Given the description of an element on the screen output the (x, y) to click on. 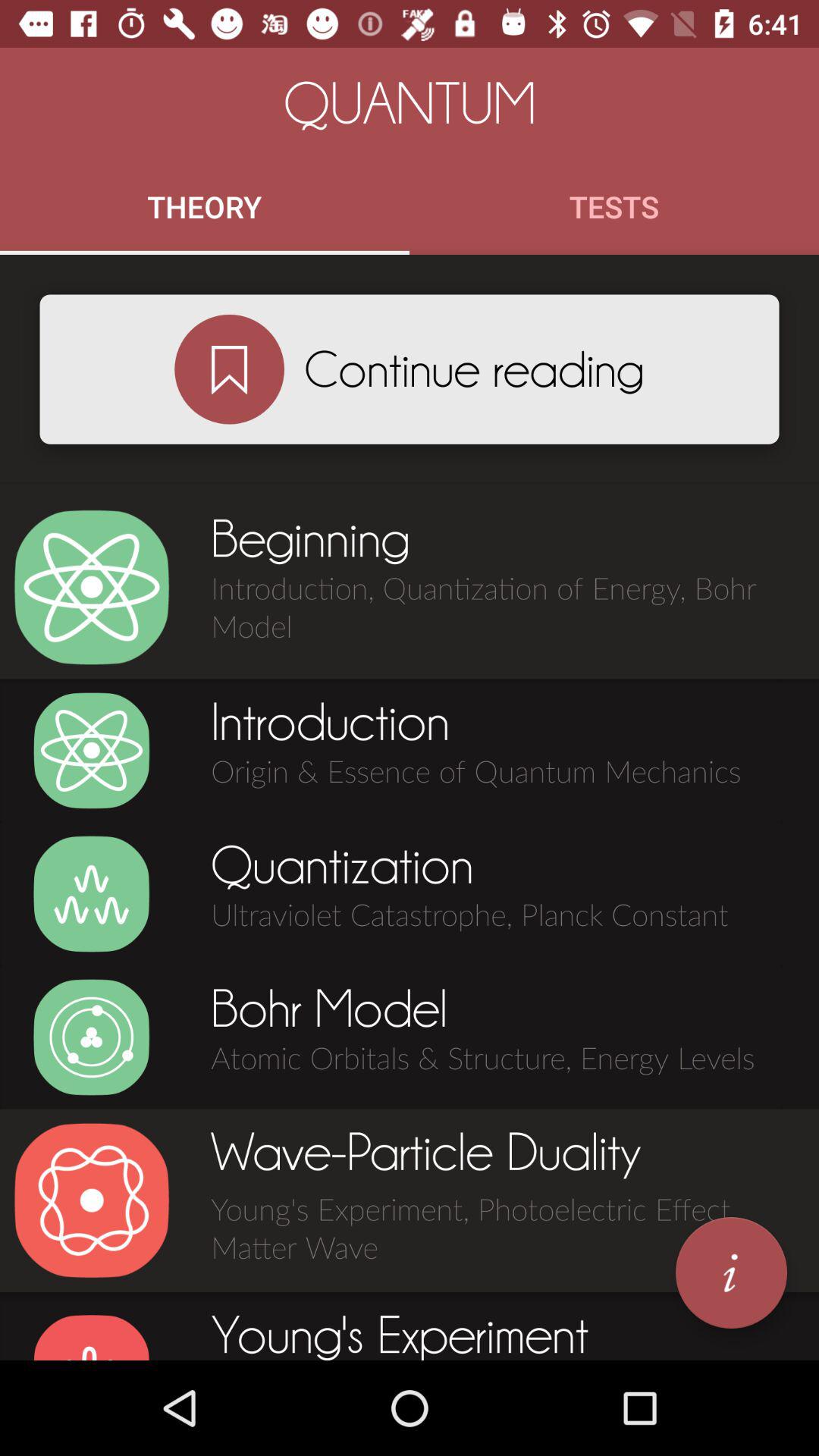
read about bohr model (91, 1037)
